Given the description of an element on the screen output the (x, y) to click on. 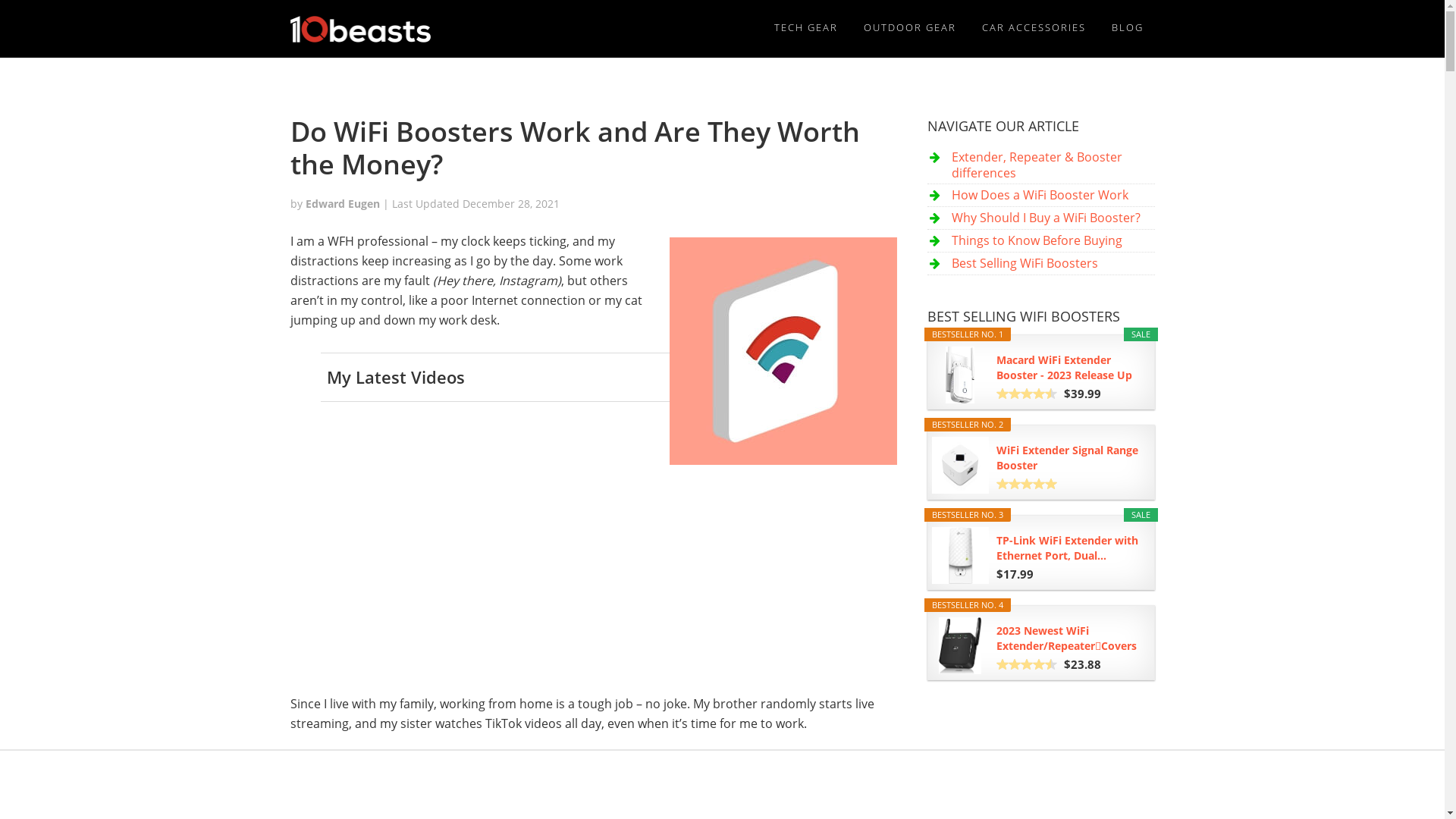
10 Beasts Element type: text (359, 28)
WiFi Extender Signal Range Booster Element type: text (1069, 457)
BLOG Element type: text (1126, 27)
CAR ACCESSORIES Element type: text (1033, 27)
Skip to primary navigation Element type: text (0, 0)
3rd party ad content Element type: hover (721, 784)
Reviews on Amazon Element type: hover (1026, 664)
Macard WiFi Extender Booster - 2023 Release Up to... Element type: text (1069, 367)
How Does a WiFi Booster Work Element type: text (1038, 194)
TP-Link WiFi Extender with Ethernet Port, Dual... Element type: text (1069, 548)
3rd party ad content Element type: hover (1040, 805)
Why Should I Buy a WiFi Booster? Element type: text (1044, 217)
Best Selling WiFi Boosters Element type: text (1023, 262)
Things to Know Before Buying Element type: text (1035, 240)
TECH GEAR Element type: text (805, 27)
OUTDOOR GEAR Element type: text (909, 27)
Reviews on Amazon Element type: hover (1026, 393)
Reviews on Amazon Element type: hover (1026, 483)
Extender, Repeater & Booster differences Element type: text (1035, 164)
